Given the description of an element on the screen output the (x, y) to click on. 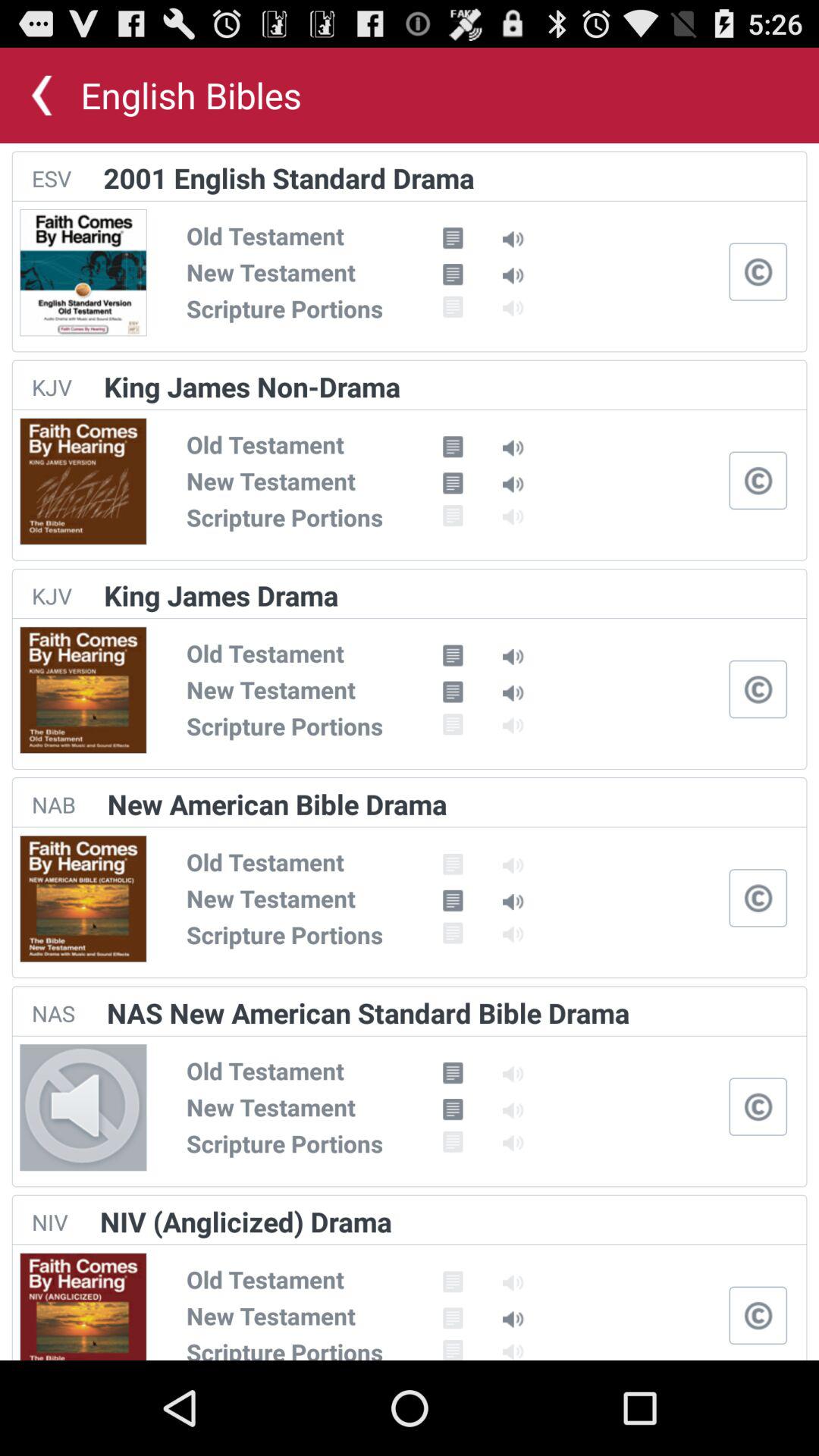
select item below the english bibles app (288, 177)
